Given the description of an element on the screen output the (x, y) to click on. 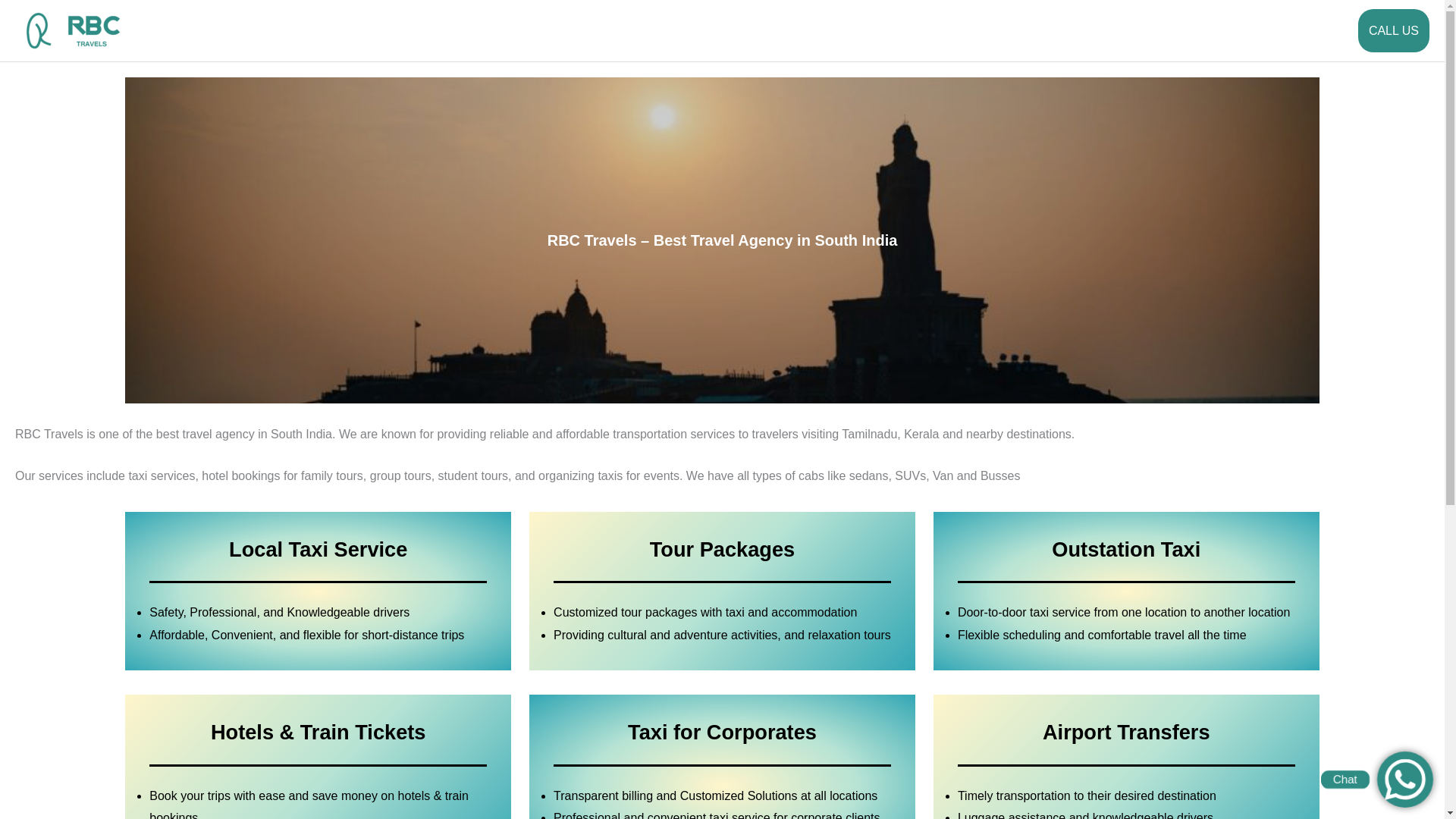
CALL US (1393, 31)
